Given the description of an element on the screen output the (x, y) to click on. 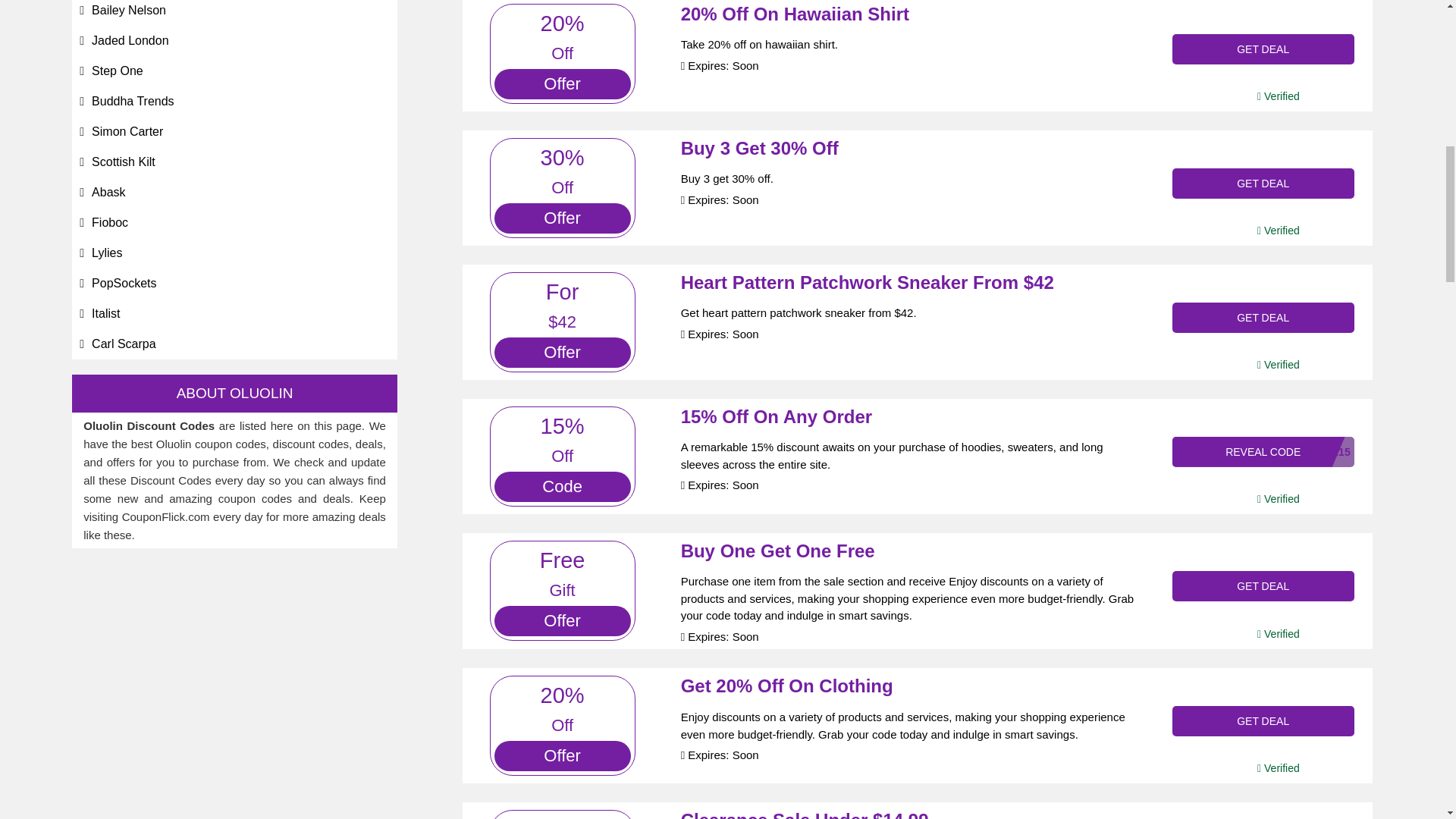
Jaded London (129, 40)
Buddha Trends (132, 101)
Bailey Nelson (128, 10)
Step One (116, 70)
